Given the description of an element on the screen output the (x, y) to click on. 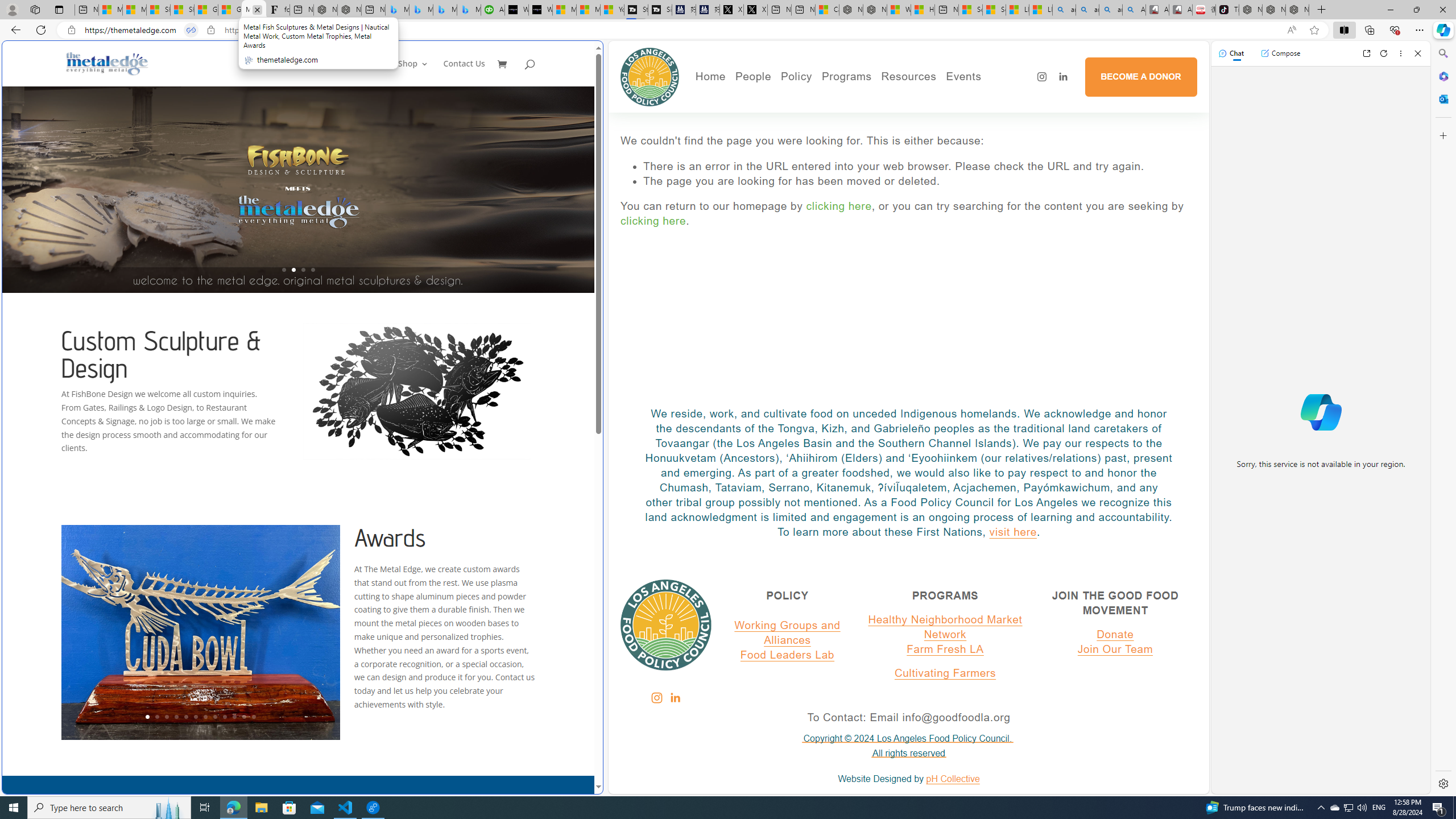
More options (1401, 53)
Workspaces (34, 9)
Microsoft 365 (1442, 76)
Amazon Echo Robot - Search Images (1134, 9)
Programs (846, 76)
New tab (946, 9)
Outlook (1442, 98)
pH Collective (952, 778)
Customize (1442, 135)
What's the best AI voice generator? - voice.ai (540, 9)
Nordace - Summer Adventures 2024 (874, 9)
Los Angeles Food Policy Council (649, 76)
Donate (1115, 634)
Settings (1442, 783)
